Given the description of an element on the screen output the (x, y) to click on. 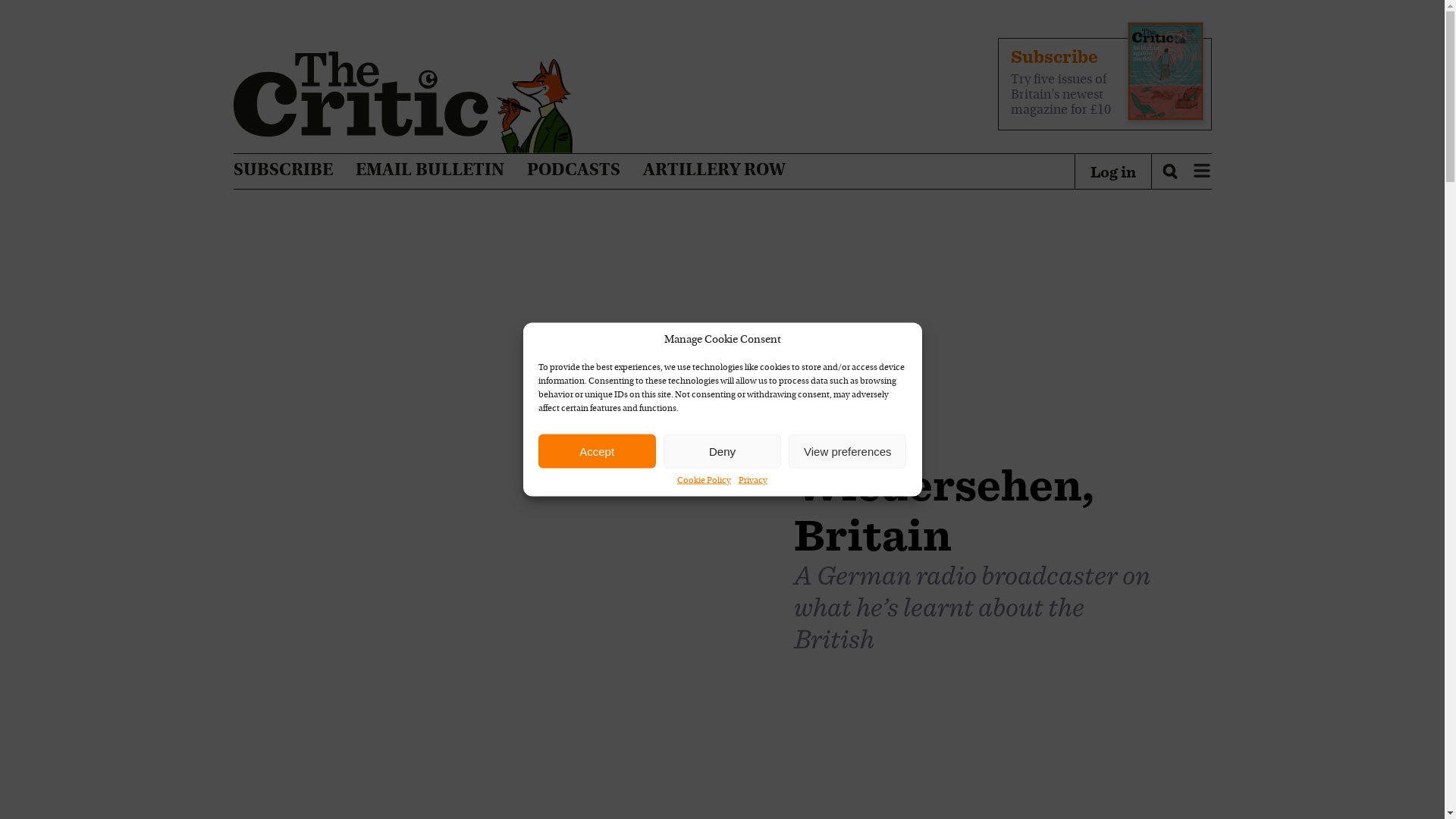
SUBSCRIBE (282, 171)
Deny (721, 450)
Privacy (752, 480)
ARTILLERY ROW (714, 171)
Log in (1112, 171)
PODCASTS (572, 171)
Cookie Policy (703, 480)
Accept (597, 450)
EMAIL BULLETIN (429, 171)
View preferences (847, 450)
